Given the description of an element on the screen output the (x, y) to click on. 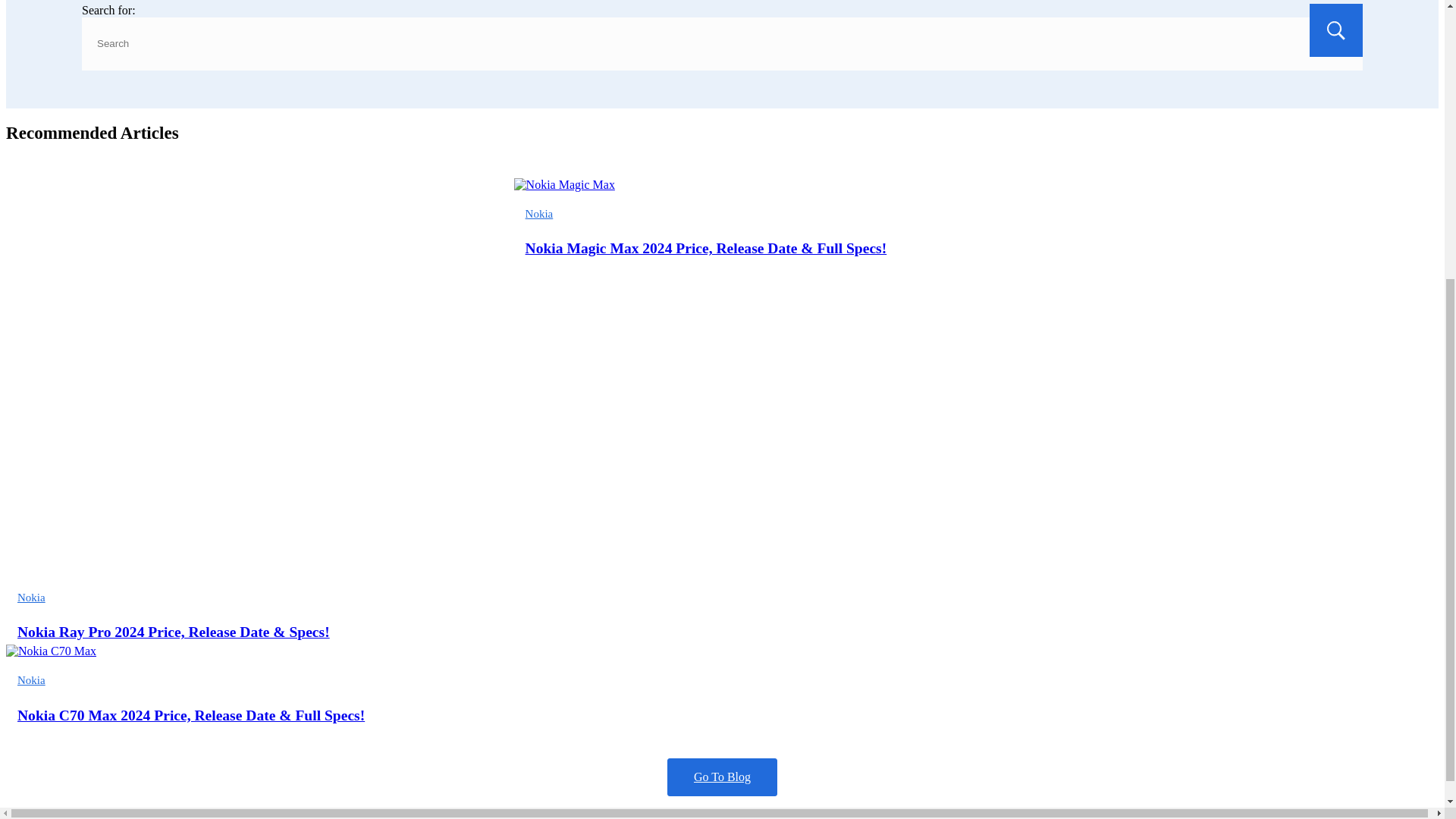
Search (1335, 30)
Search Input (721, 43)
Nokia (31, 680)
Nokia (539, 214)
Nokia (31, 597)
Search (1335, 30)
Go To Blog (721, 777)
Search (1335, 30)
